Given the description of an element on the screen output the (x, y) to click on. 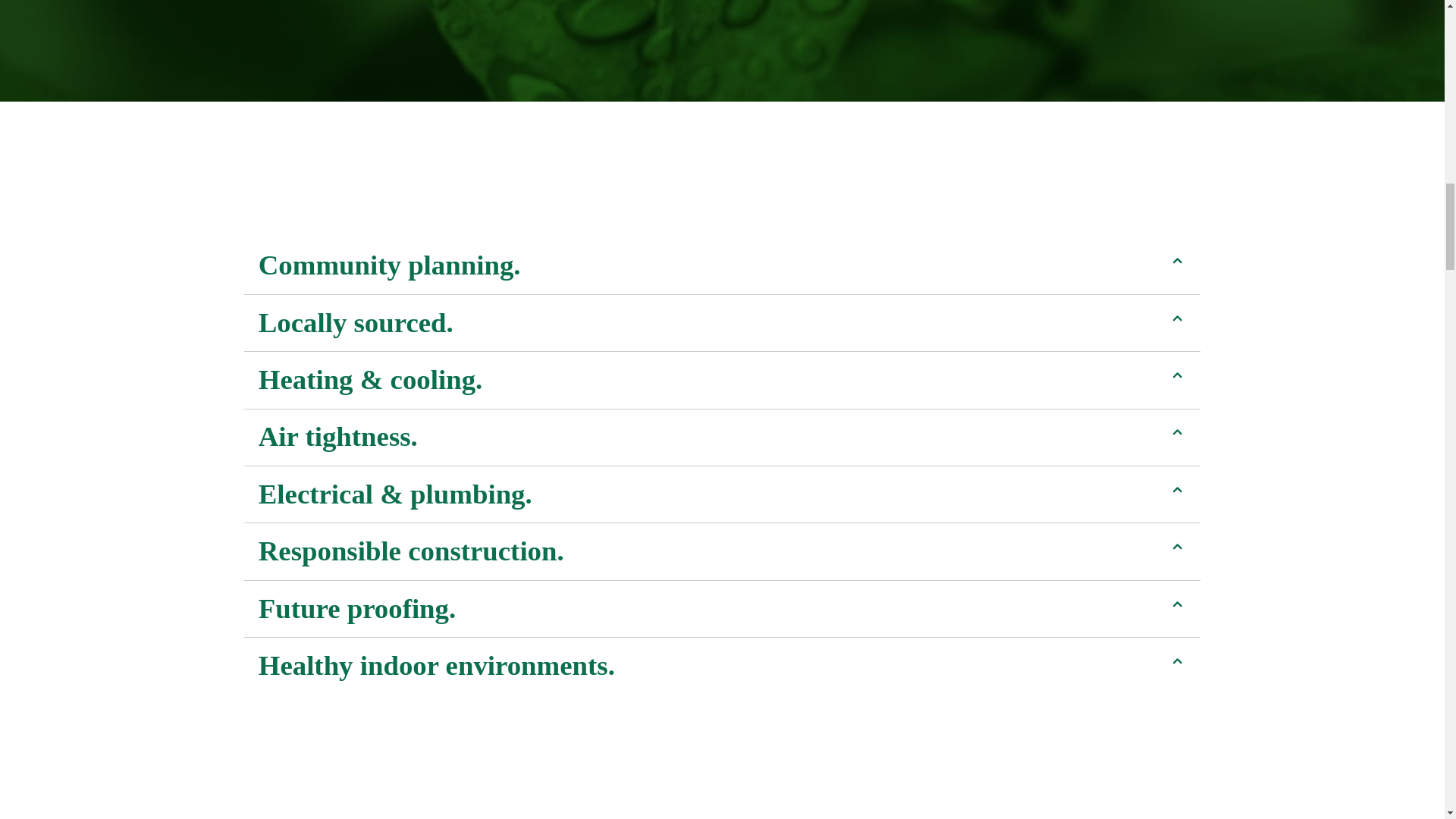
Future proofing. (721, 608)
Healthy indoor environments. (721, 665)
Locally sourced. (721, 322)
Community planning. (721, 265)
Responsible construction. (721, 550)
Air tightness. (721, 437)
